Given the description of an element on the screen output the (x, y) to click on. 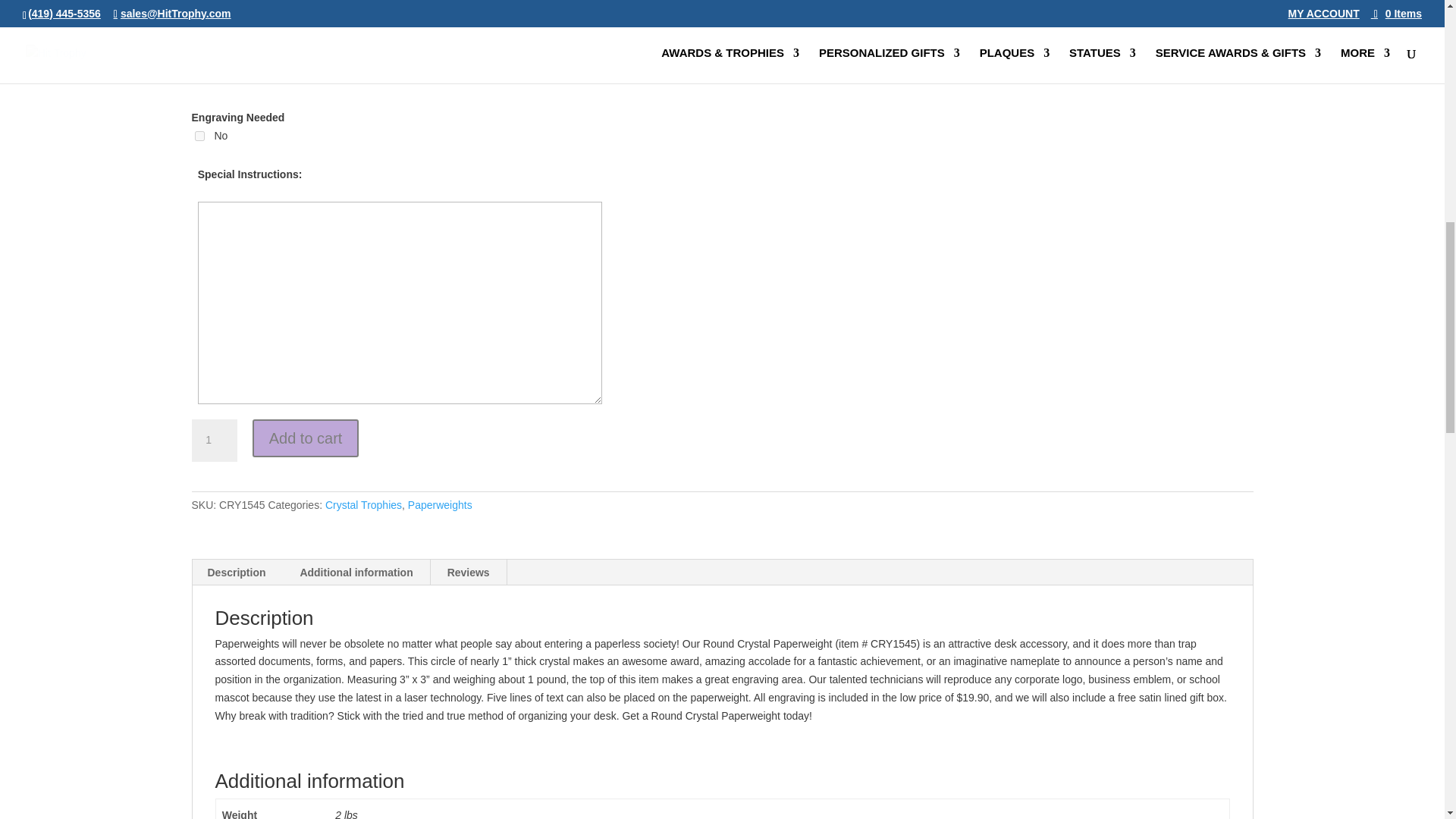
1 (212, 440)
tvda7 (198, 135)
